Given the description of an element on the screen output the (x, y) to click on. 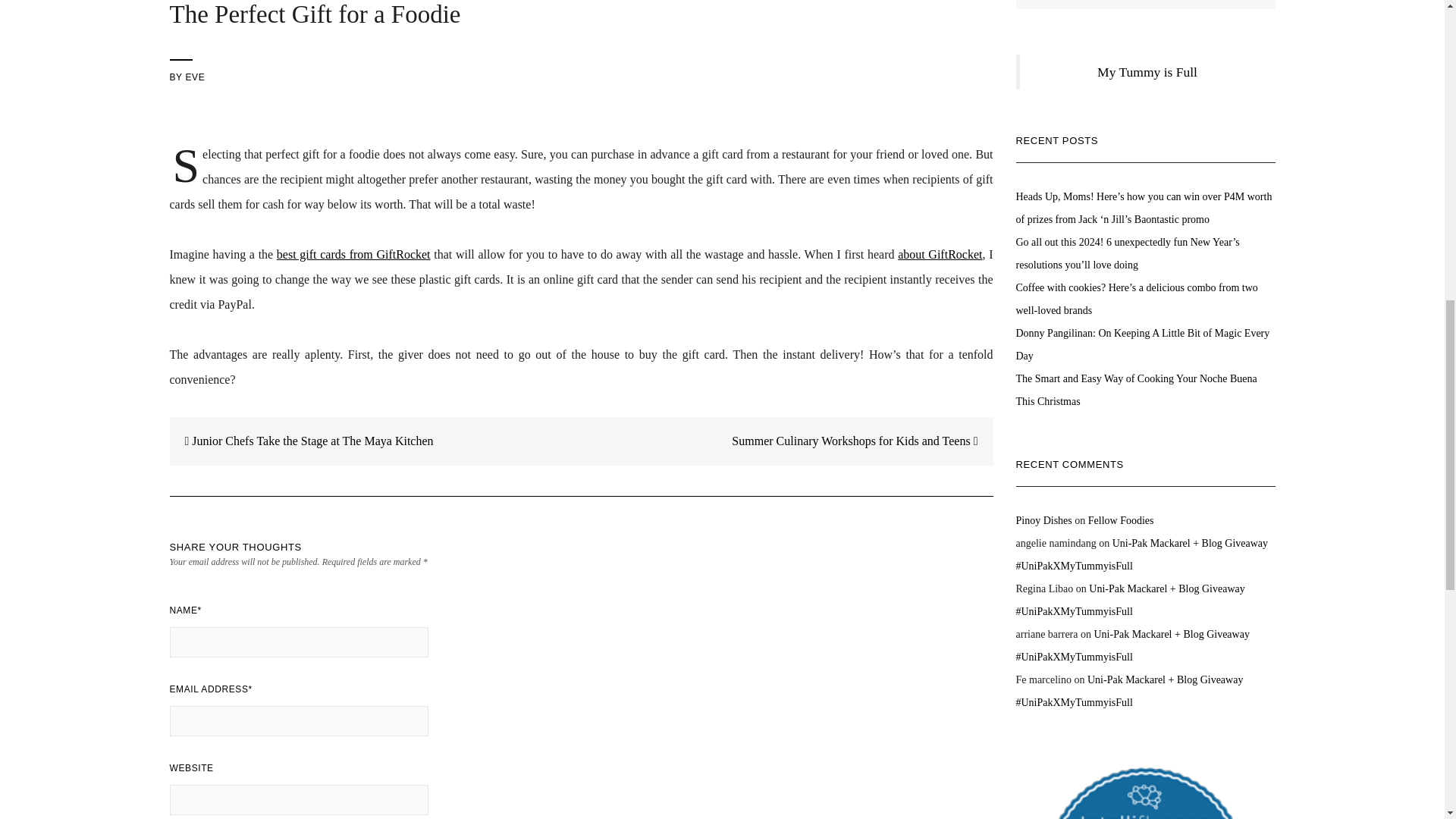
EVE (194, 77)
Summer Culinary Workshops for Kids and Teens (862, 441)
about GiftRocket (939, 254)
best gift cards from GiftRocket (353, 254)
Pinoy Dishes (1043, 520)
Fellow Foodies (1120, 520)
My Tummy is Full (1146, 71)
Junior Chefs Take the Stage at The Maya Kitchen (301, 441)
Donny Pangilinan: On Keeping A Little Bit of Magic Every Day (1142, 344)
